Given the description of an element on the screen output the (x, y) to click on. 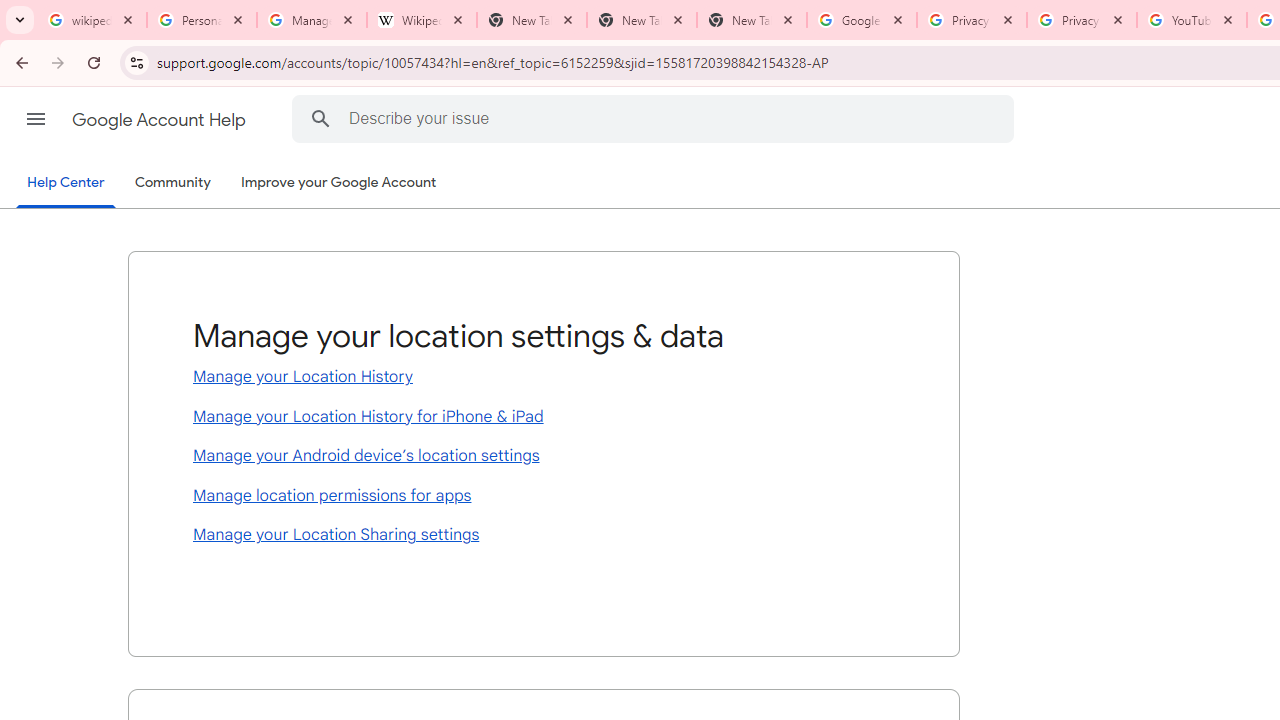
Manage location permissions for apps (543, 496)
Google Account Help (160, 119)
Manage your Location History for iPhone & iPad (543, 417)
Describe your issue (655, 118)
Improve your Google Account (339, 183)
YouTube (1191, 20)
New Tab (752, 20)
